Given the description of an element on the screen output the (x, y) to click on. 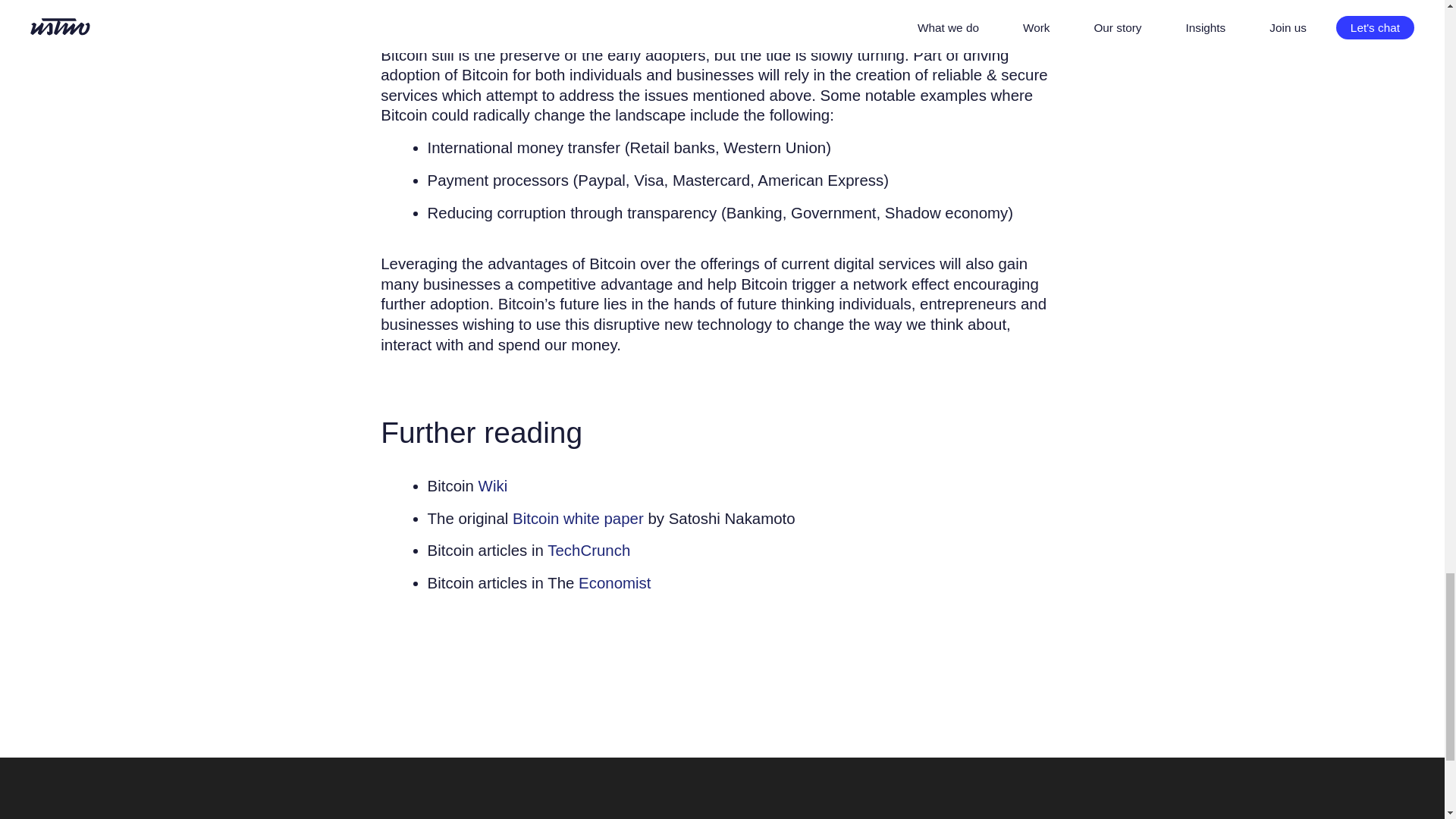
TechCrunch (588, 549)
Economist (614, 582)
Wiki (493, 485)
Bitcoin white paper (577, 518)
